Given the description of an element on the screen output the (x, y) to click on. 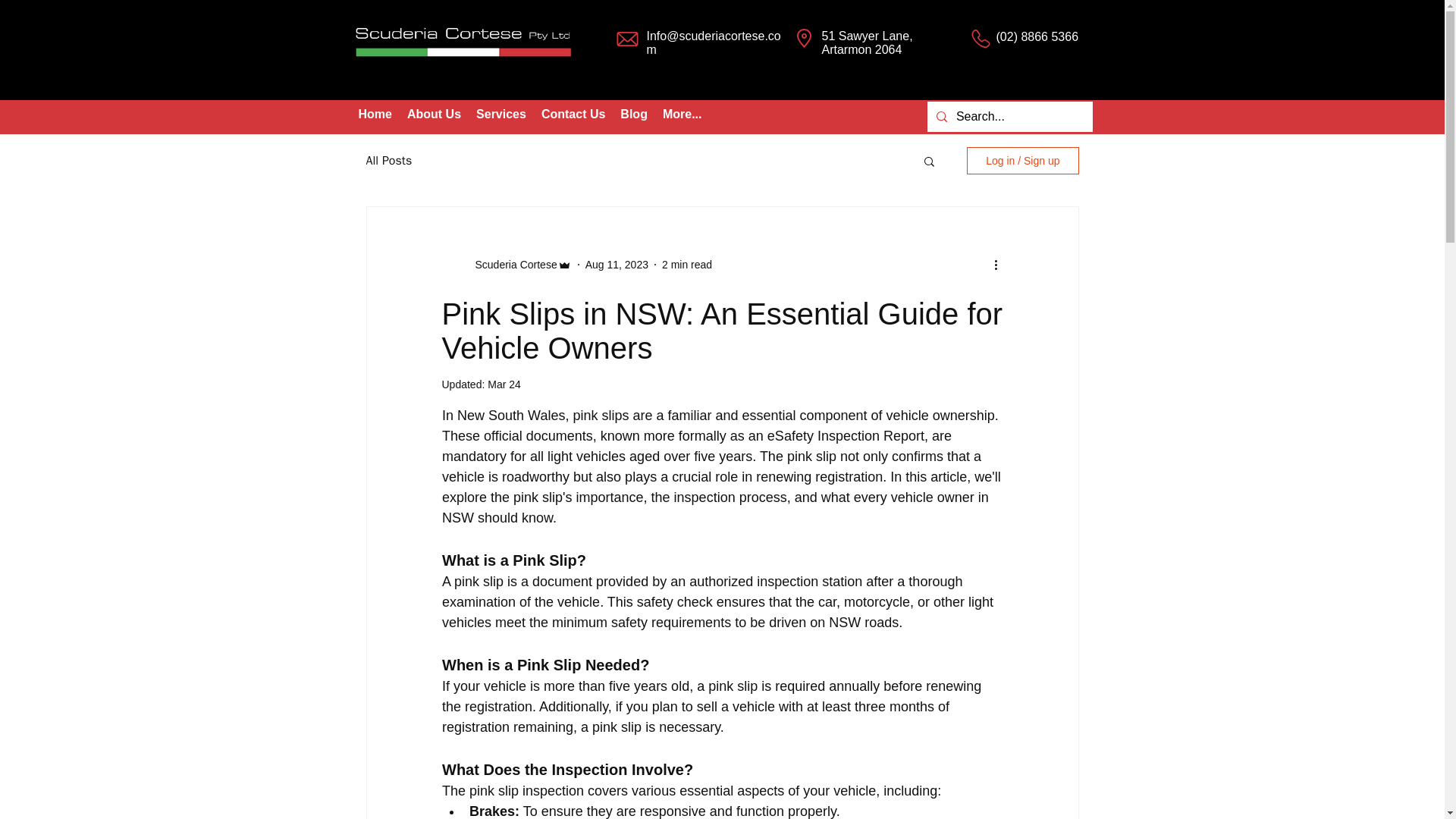
Mar 24 (504, 384)
Contact Us (573, 116)
2 min read (686, 263)
Aug 11, 2023 (616, 263)
All Posts (388, 160)
Blog (633, 116)
Home (374, 116)
Services (501, 116)
About Us (433, 116)
Scuderia Cortese (510, 263)
